Given the description of an element on the screen output the (x, y) to click on. 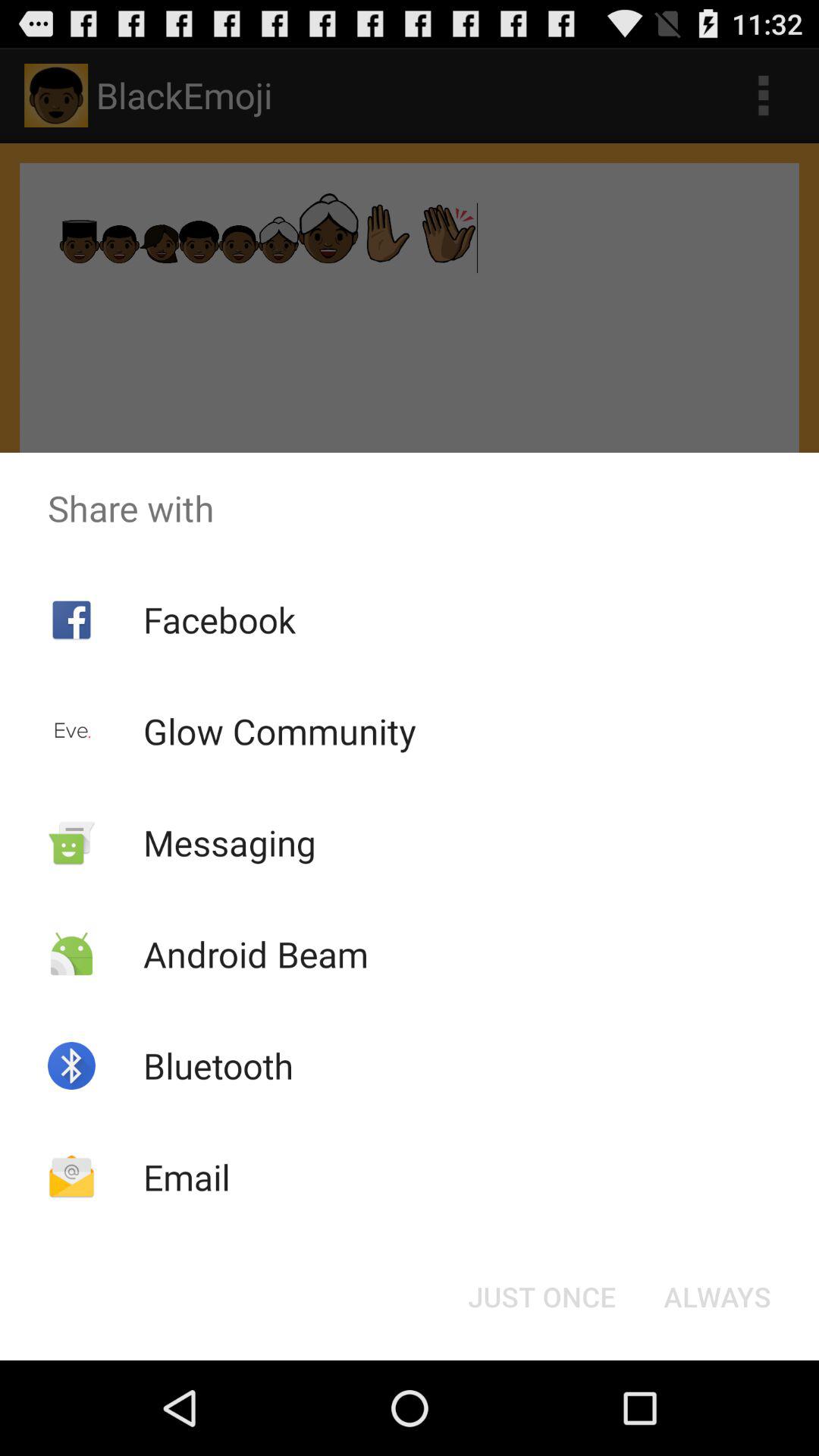
tap icon below the facebook (279, 730)
